Given the description of an element on the screen output the (x, y) to click on. 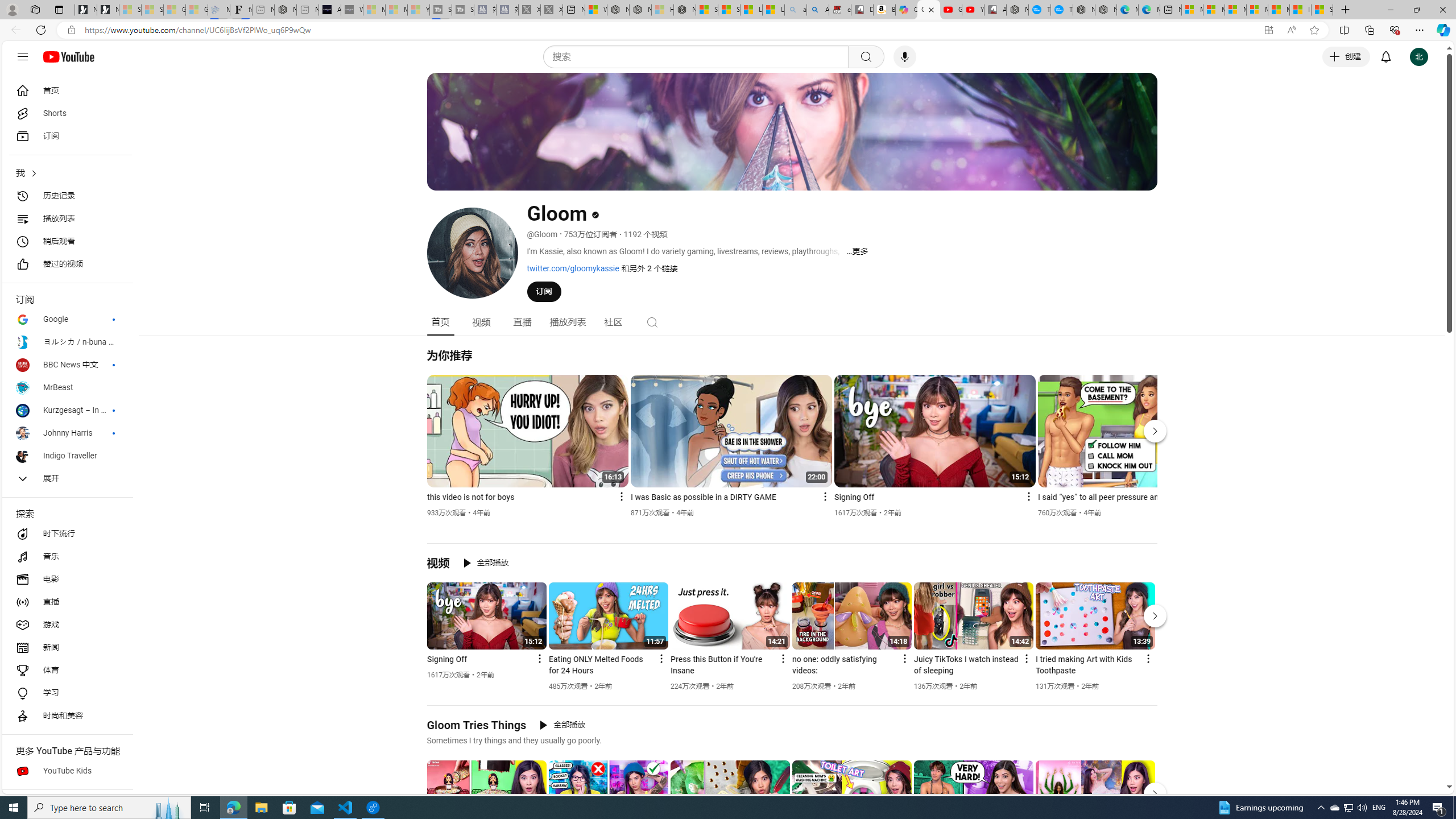
Indigo Traveller (66, 455)
Microsoft Start Sports - Sleeping (374, 9)
